Given the description of an element on the screen output the (x, y) to click on. 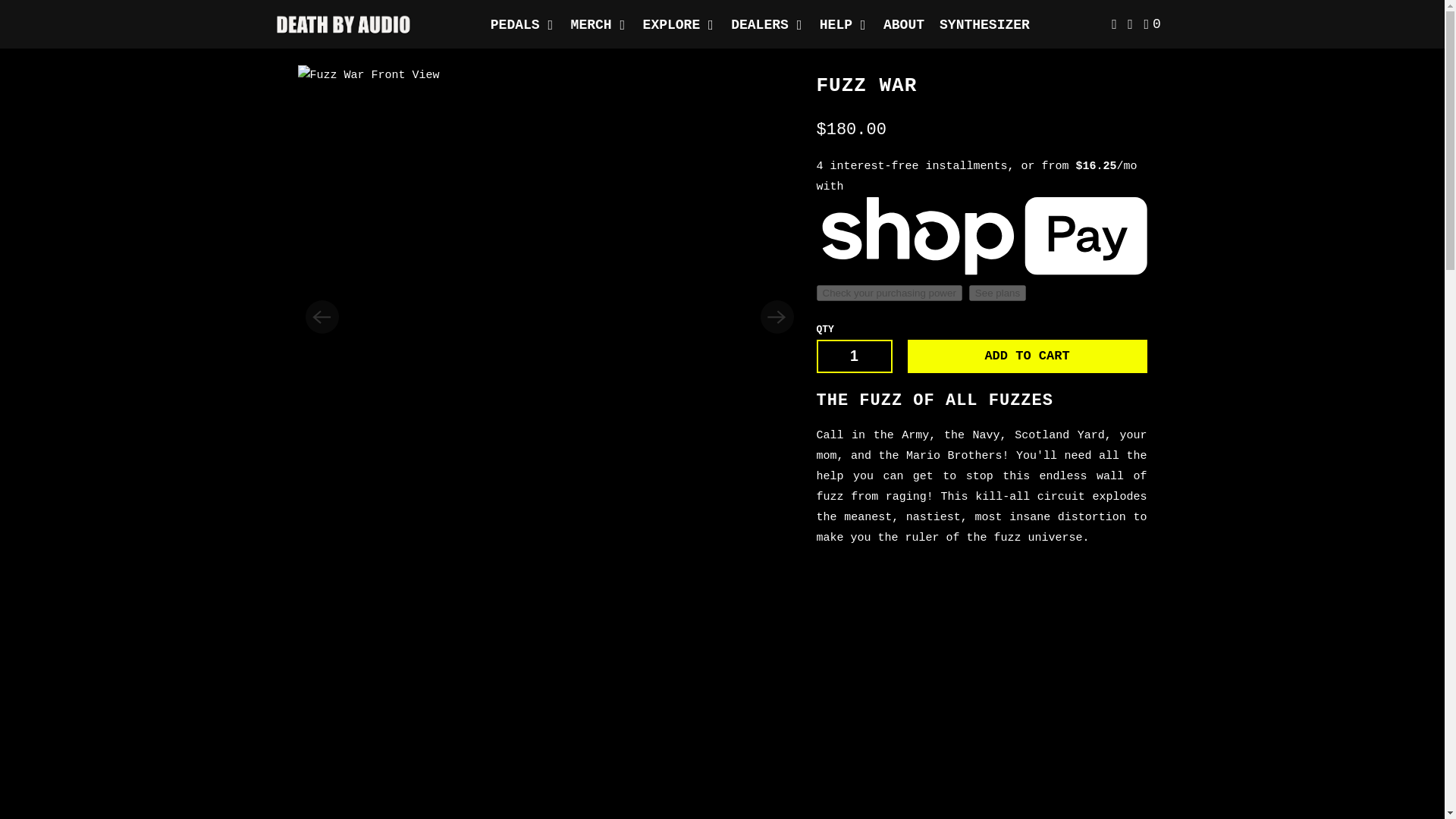
My Account  (1115, 24)
Death By Audio (342, 24)
Search (1131, 24)
1 (853, 356)
